Given the description of an element on the screen output the (x, y) to click on. 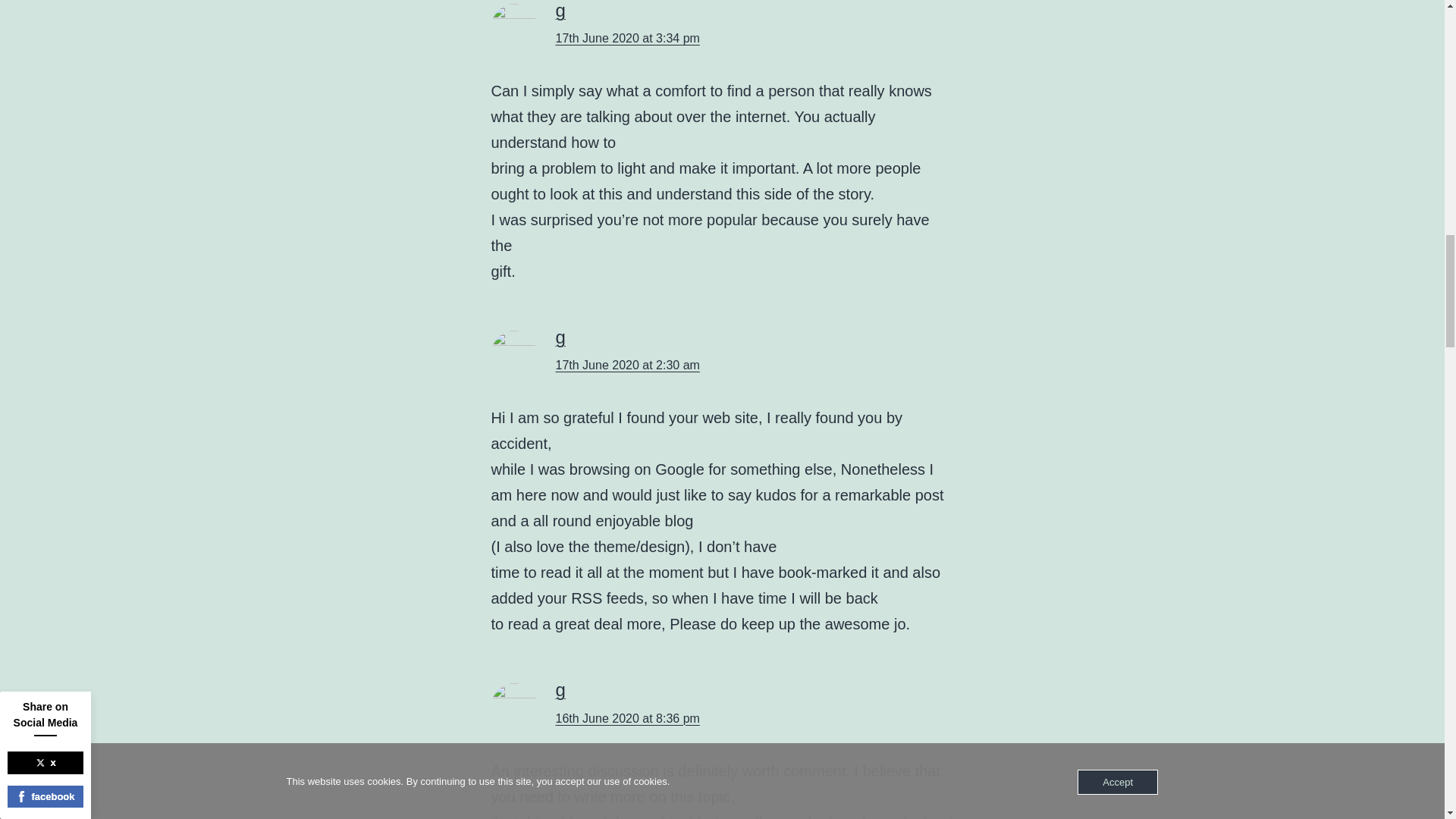
16th June 2020 at 8:36 pm (626, 717)
17th June 2020 at 3:34 pm (626, 38)
17th June 2020 at 2:30 am (626, 364)
